Given the description of an element on the screen output the (x, y) to click on. 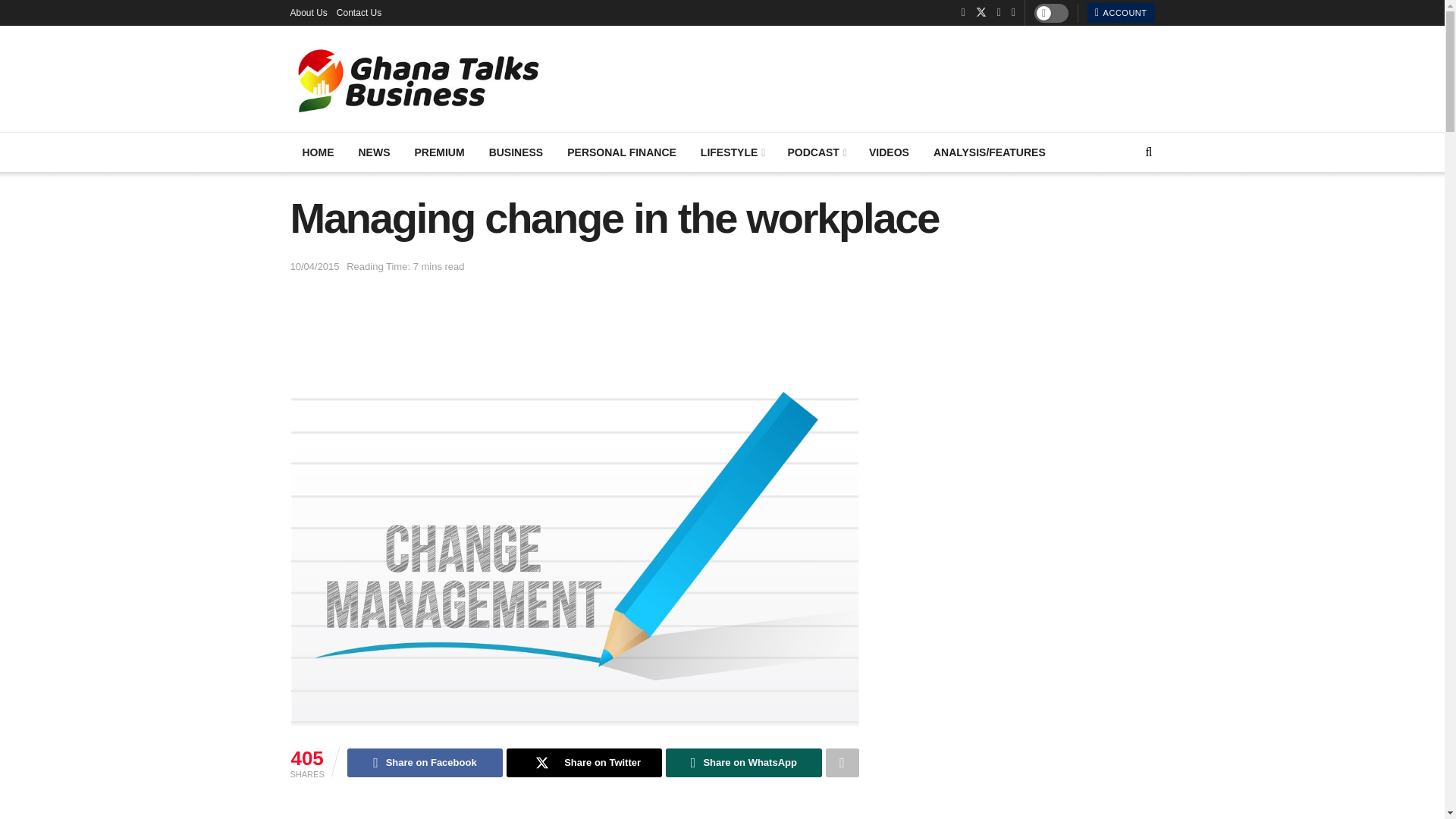
ACCOUNT (1120, 12)
VIDEOS (889, 151)
Contact Us (358, 12)
BUSINESS (516, 151)
PODCAST (815, 151)
NEWS (373, 151)
LIFESTYLE (732, 151)
PREMIUM (438, 151)
About Us (307, 12)
HOME (317, 151)
